Given the description of an element on the screen output the (x, y) to click on. 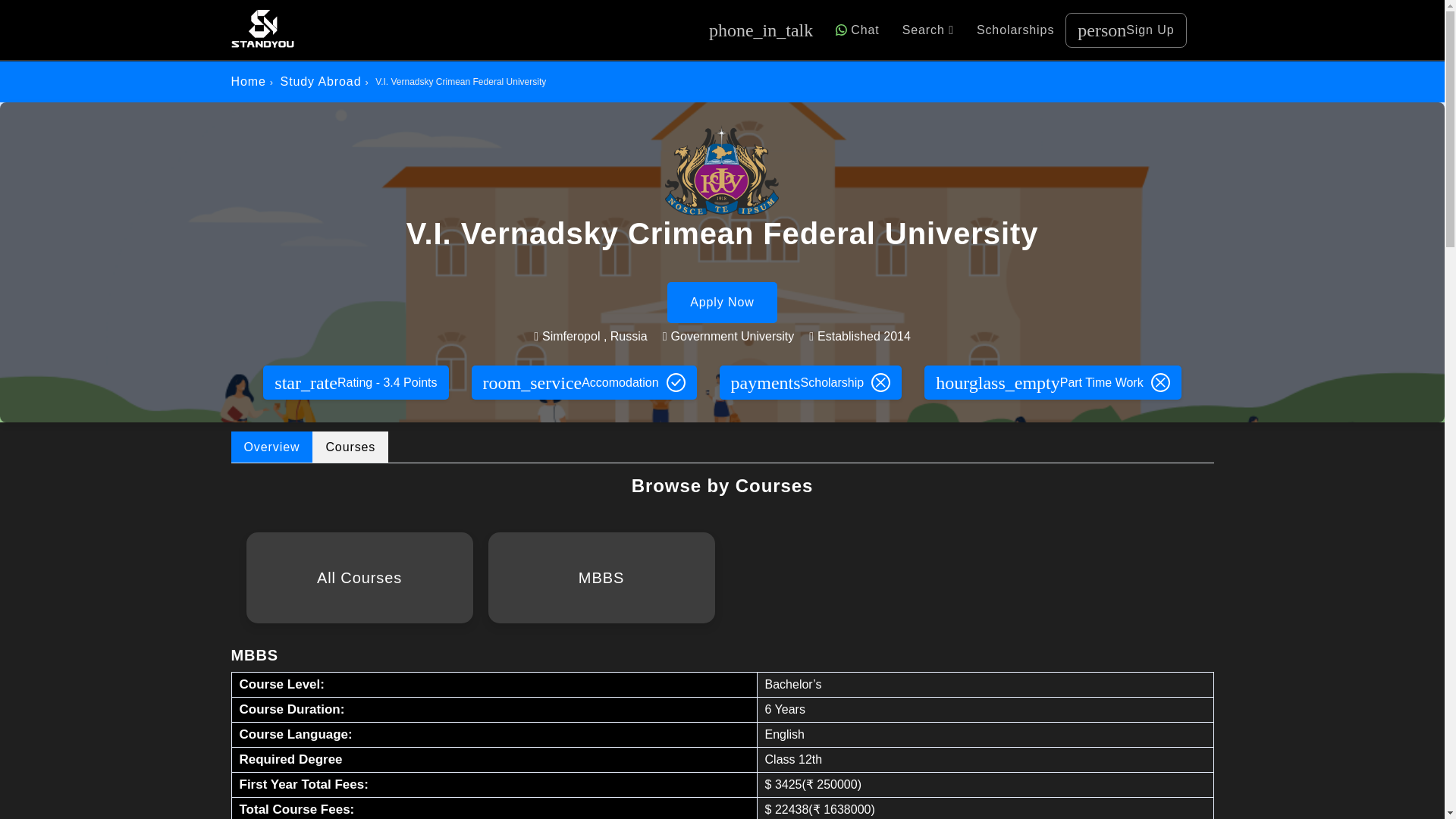
Home (247, 81)
Search (928, 29)
Study Abroad (321, 81)
MBBS (600, 577)
Apply Now (721, 301)
Overview (271, 447)
Chat (856, 29)
Courses (1125, 29)
Scholarships (350, 447)
